Given the description of an element on the screen output the (x, y) to click on. 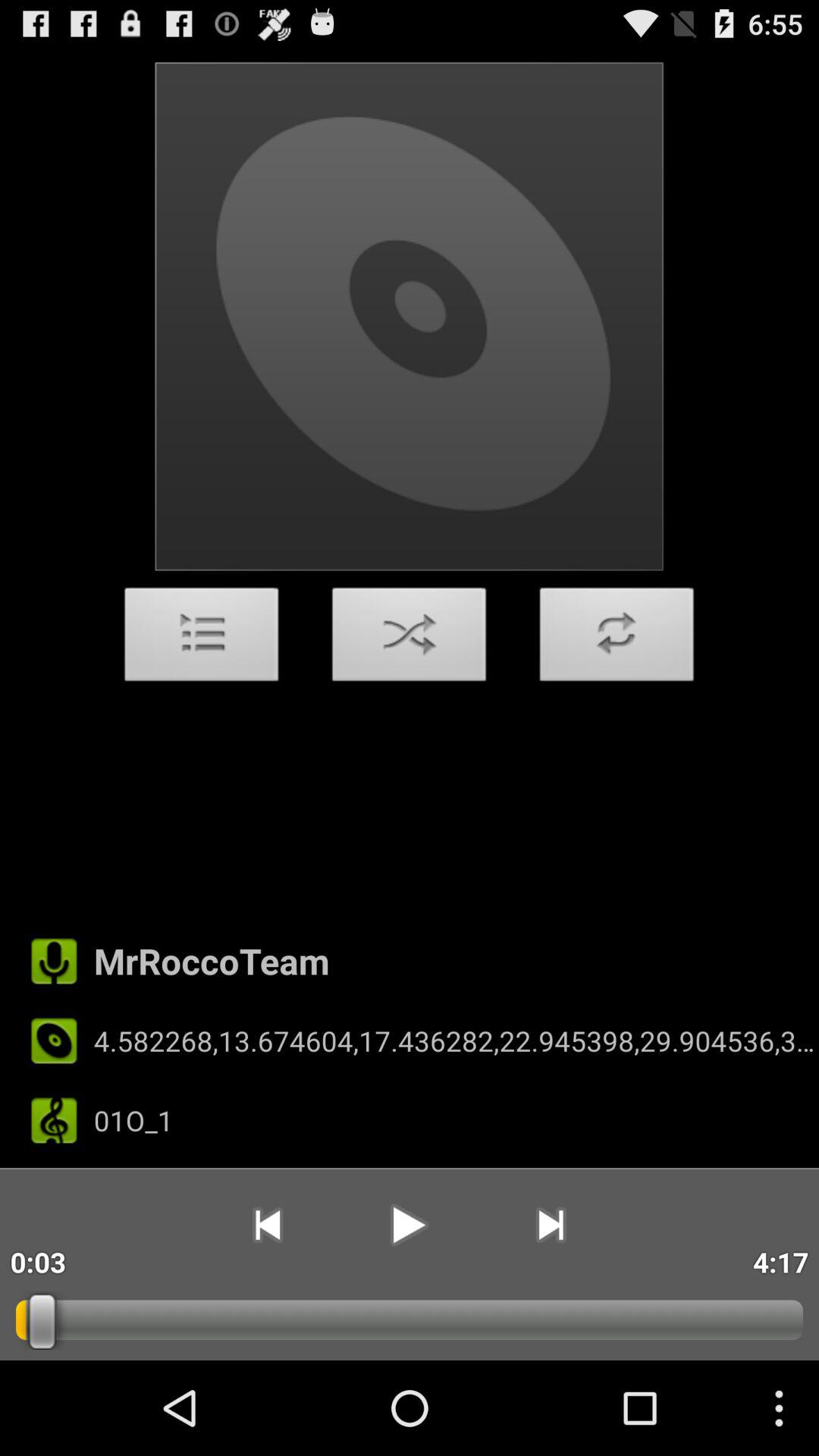
click the icon to the right of the 0:03 app (267, 1224)
